Given the description of an element on the screen output the (x, y) to click on. 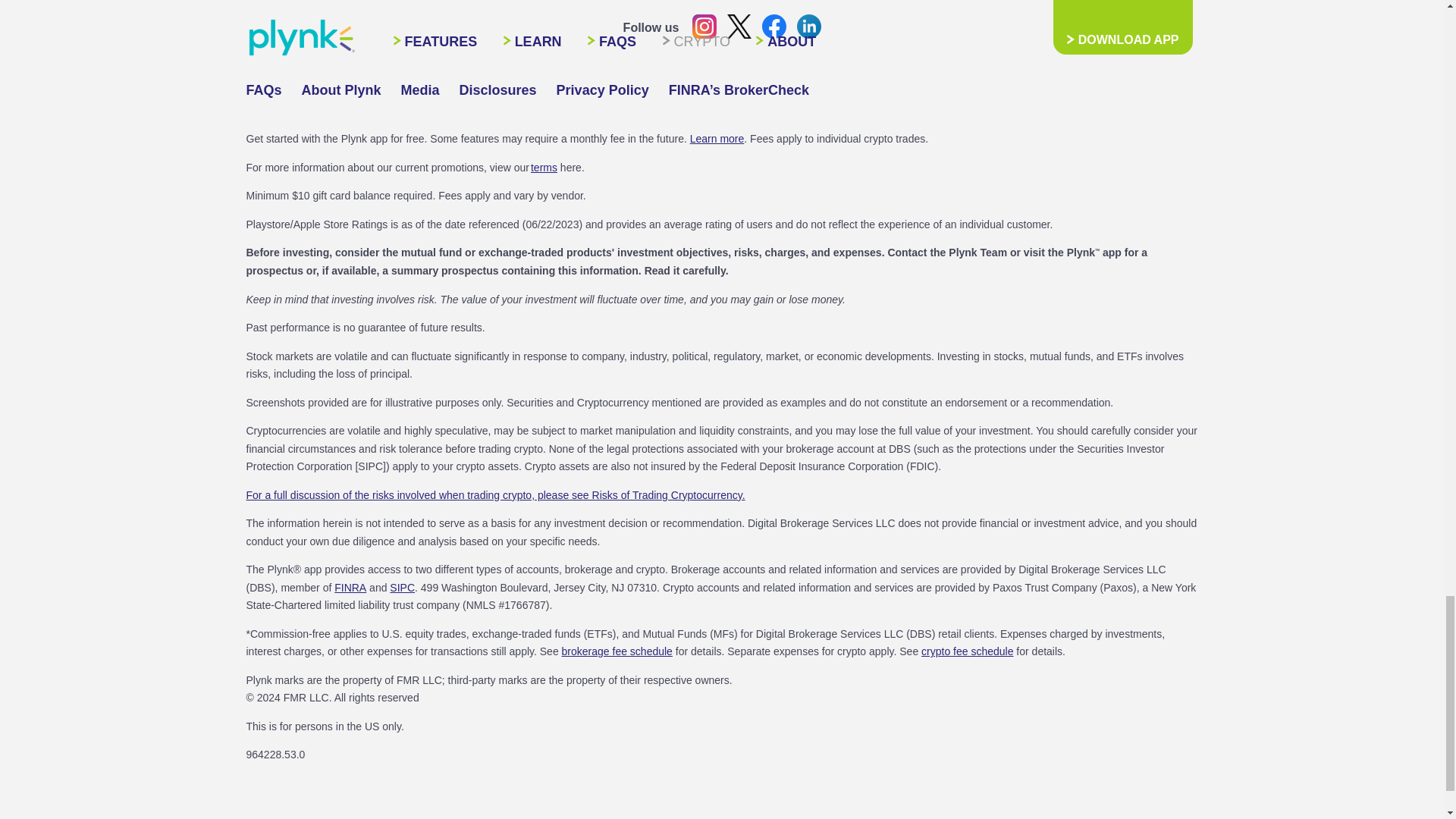
Instagram logo (704, 26)
crypto fee schedule (967, 651)
About Plynk (341, 90)
Media (350, 587)
Privacy Policy (420, 90)
Facebook logo (602, 90)
LinkedIn logo (773, 26)
brokerage fee schedule (808, 26)
terms (263, 90)
Disclosures (402, 587)
